Given the description of an element on the screen output the (x, y) to click on. 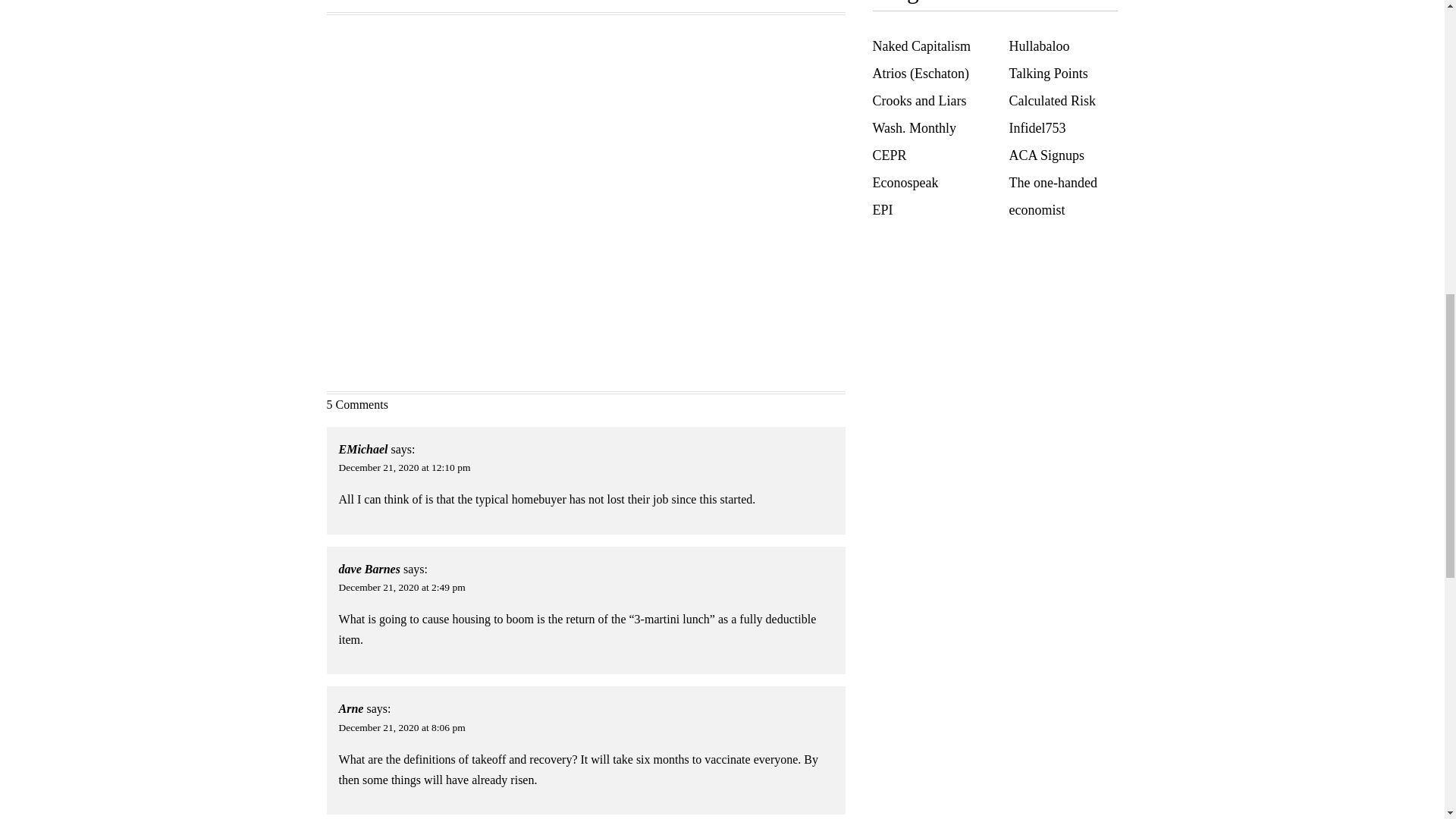
December 21, 2020 at 12:10 pm (404, 467)
December 21, 2020 at 2:49 pm (402, 586)
December 21, 2020 at 8:06 pm (402, 727)
